Given the description of an element on the screen output the (x, y) to click on. 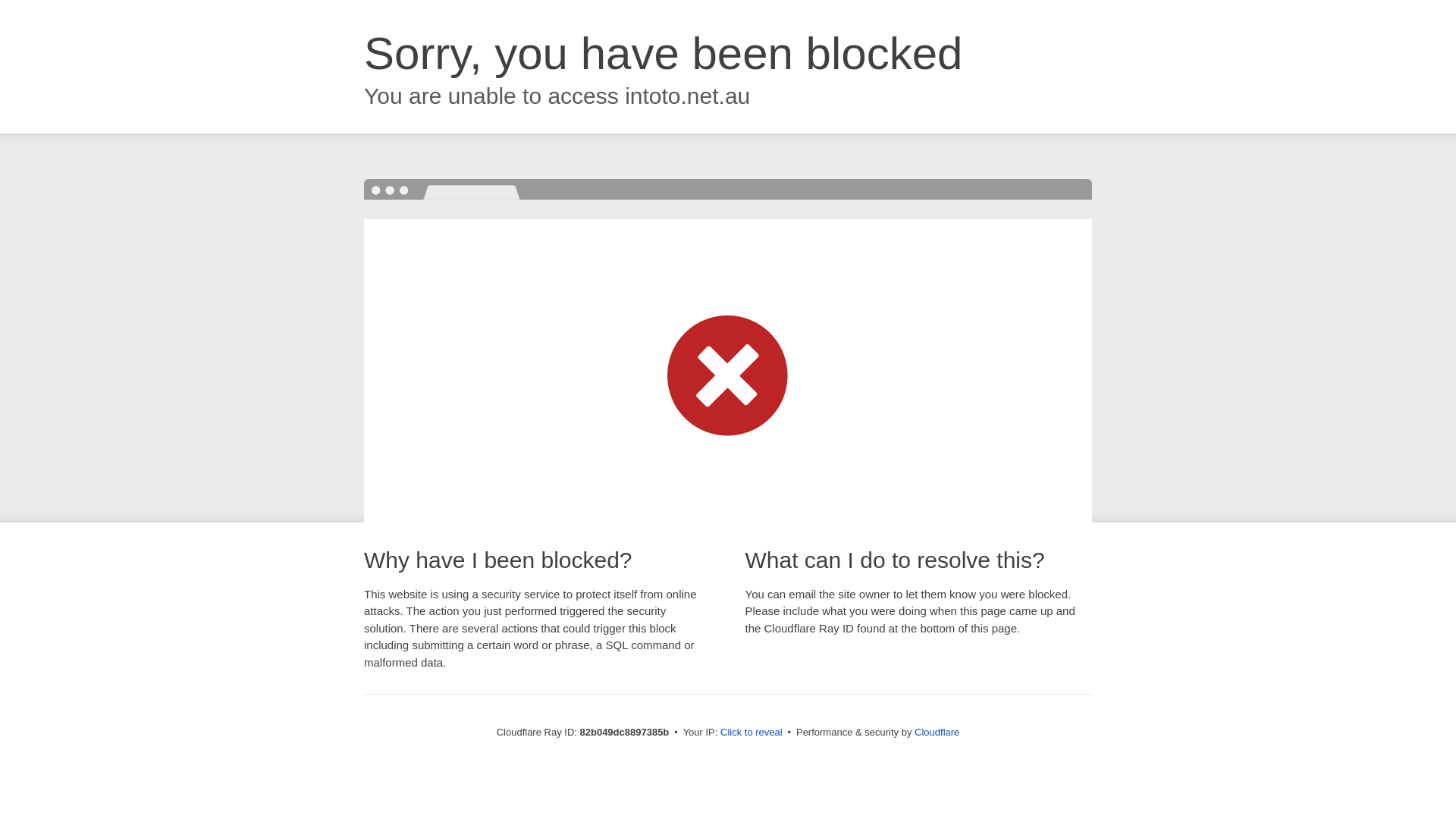
Click to reveal Element type: text (751, 732)
Cloudflare Element type: text (936, 731)
